Given the description of an element on the screen output the (x, y) to click on. 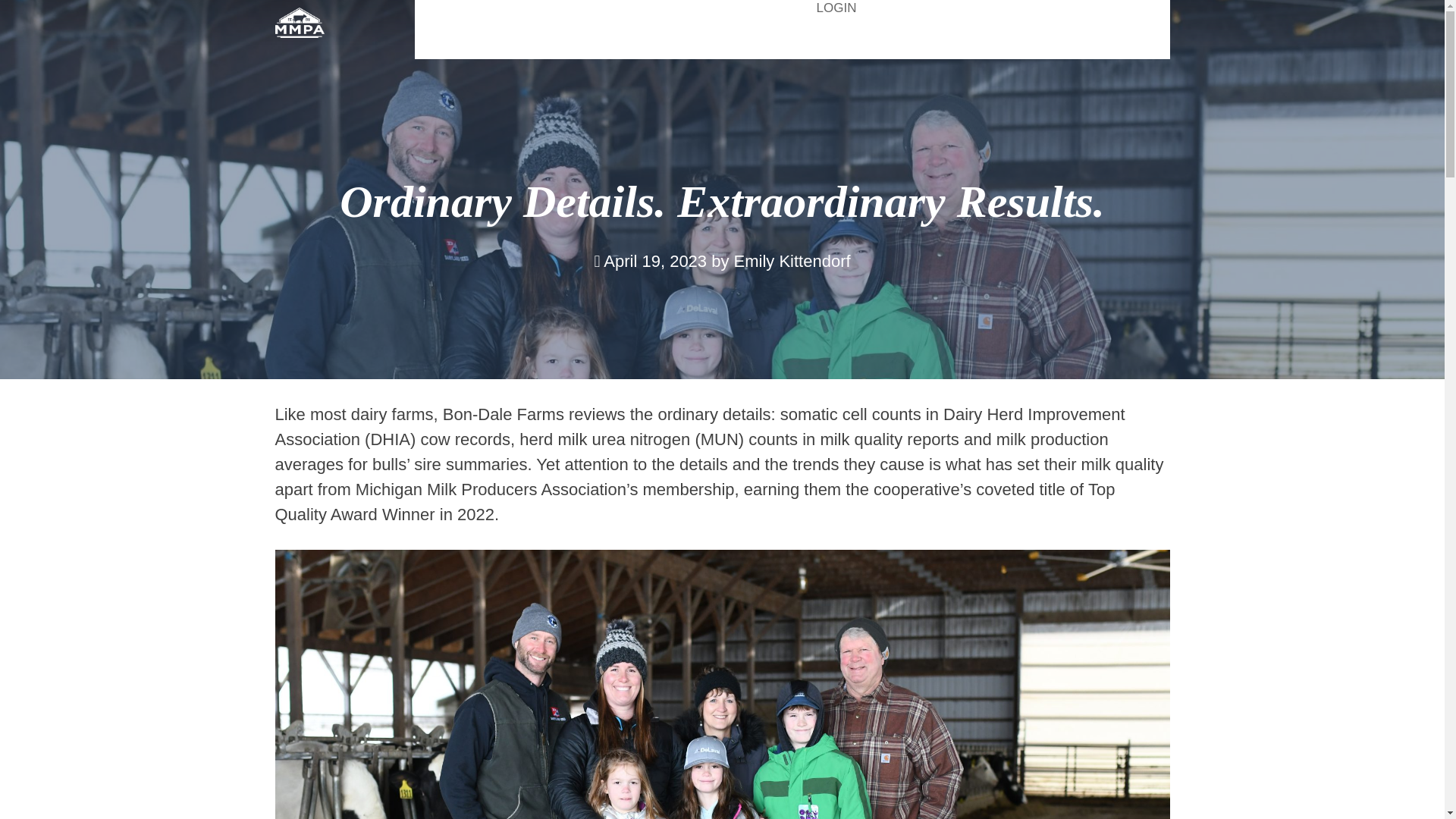
LOGIN (836, 9)
CAREERS (596, 40)
PRODUCTS (721, 40)
MEMBERSHIP (860, 40)
FARM SUPPLY STORE (693, 7)
ABOUT (486, 40)
CONTACT (1132, 40)
NEWSROOM (1004, 40)
